Given the description of an element on the screen output the (x, y) to click on. 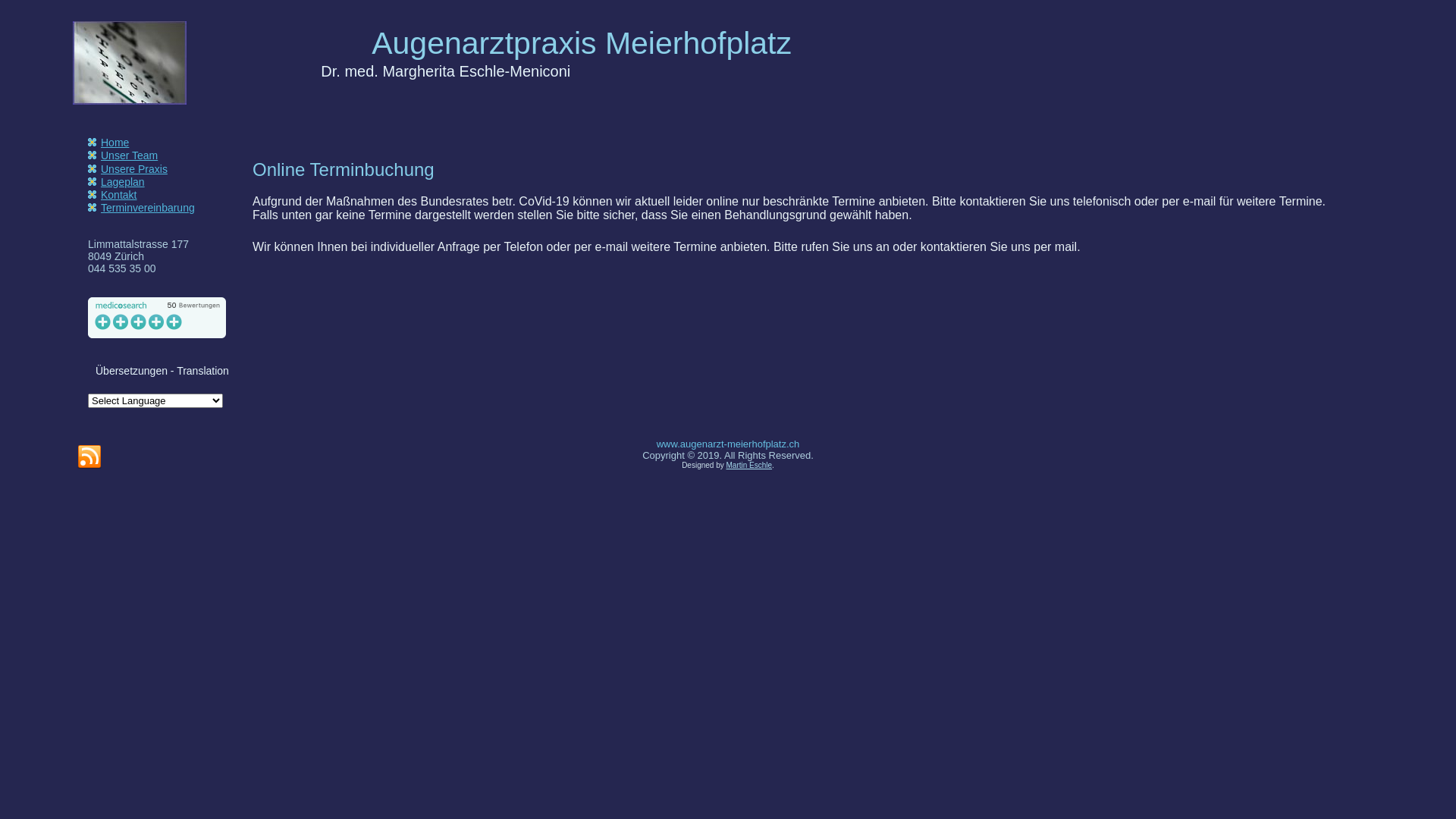
Kontakt Element type: text (118, 194)
Augenarztpraxis Meierhofplatz Element type: text (581, 42)
Martin Eschle Element type: text (749, 465)
Unsere Praxis Element type: text (133, 168)
Home Element type: text (114, 142)
Unser Team Element type: text (128, 155)
RSS Element type: hover (89, 456)
www.augenarzt-meierhofplatz.ch Element type: text (728, 443)
Lageplan Element type: text (122, 181)
Terminvereinbarung Element type: text (147, 207)
